Given the description of an element on the screen output the (x, y) to click on. 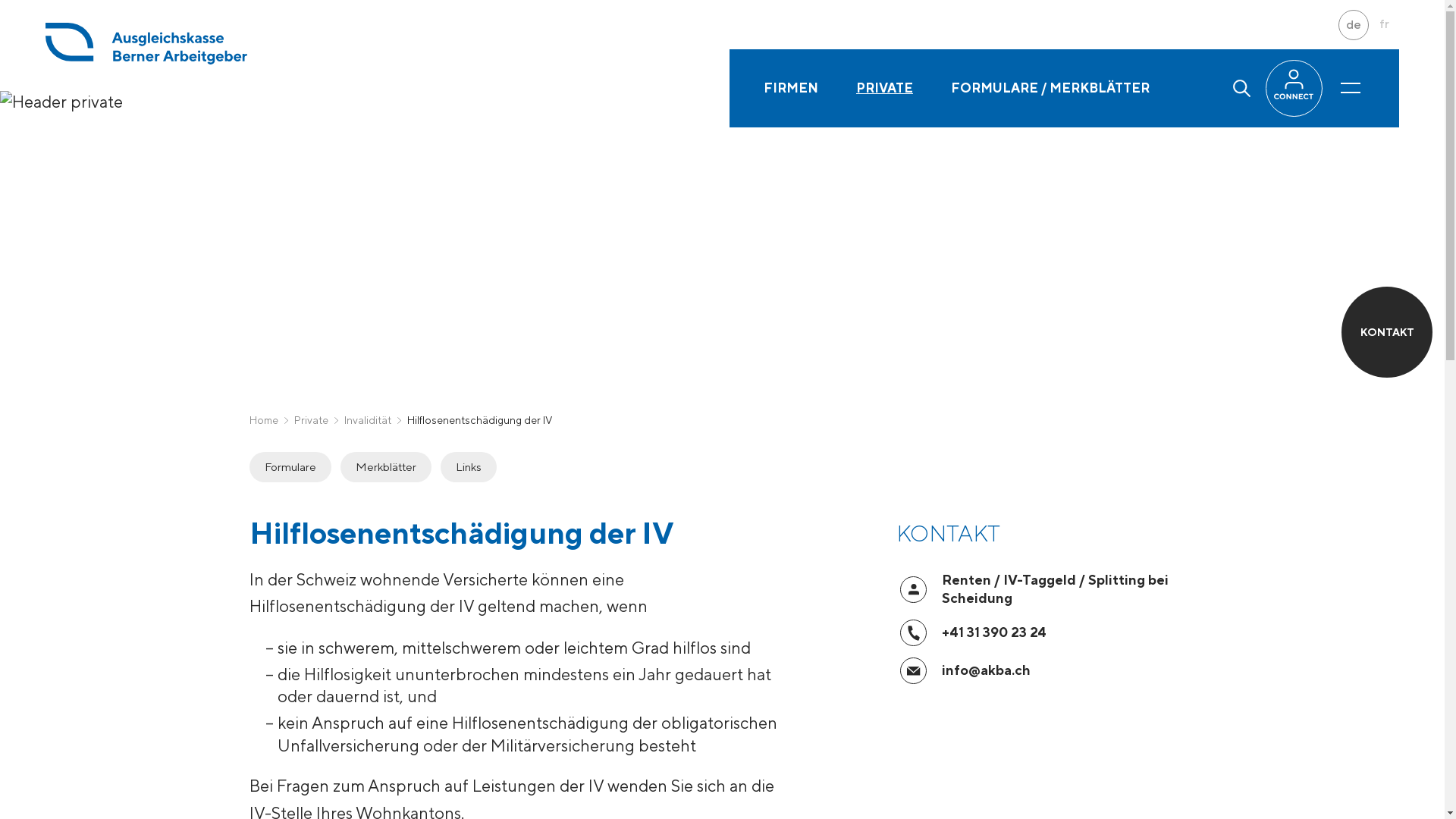
FIRMEN Element type: text (790, 88)
Formulare Element type: text (289, 466)
fr Element type: text (1383, 24)
Links Element type: text (467, 466)
Home Element type: text (262, 420)
Header private Element type: hover (61, 102)
+41 31 390 23 24 Element type: text (993, 632)
Private Element type: text (311, 420)
PRIVATE Element type: text (884, 88)
KONTAKT Element type: text (1386, 331)
info@akba.ch Element type: text (985, 670)
